Given the description of an element on the screen output the (x, y) to click on. 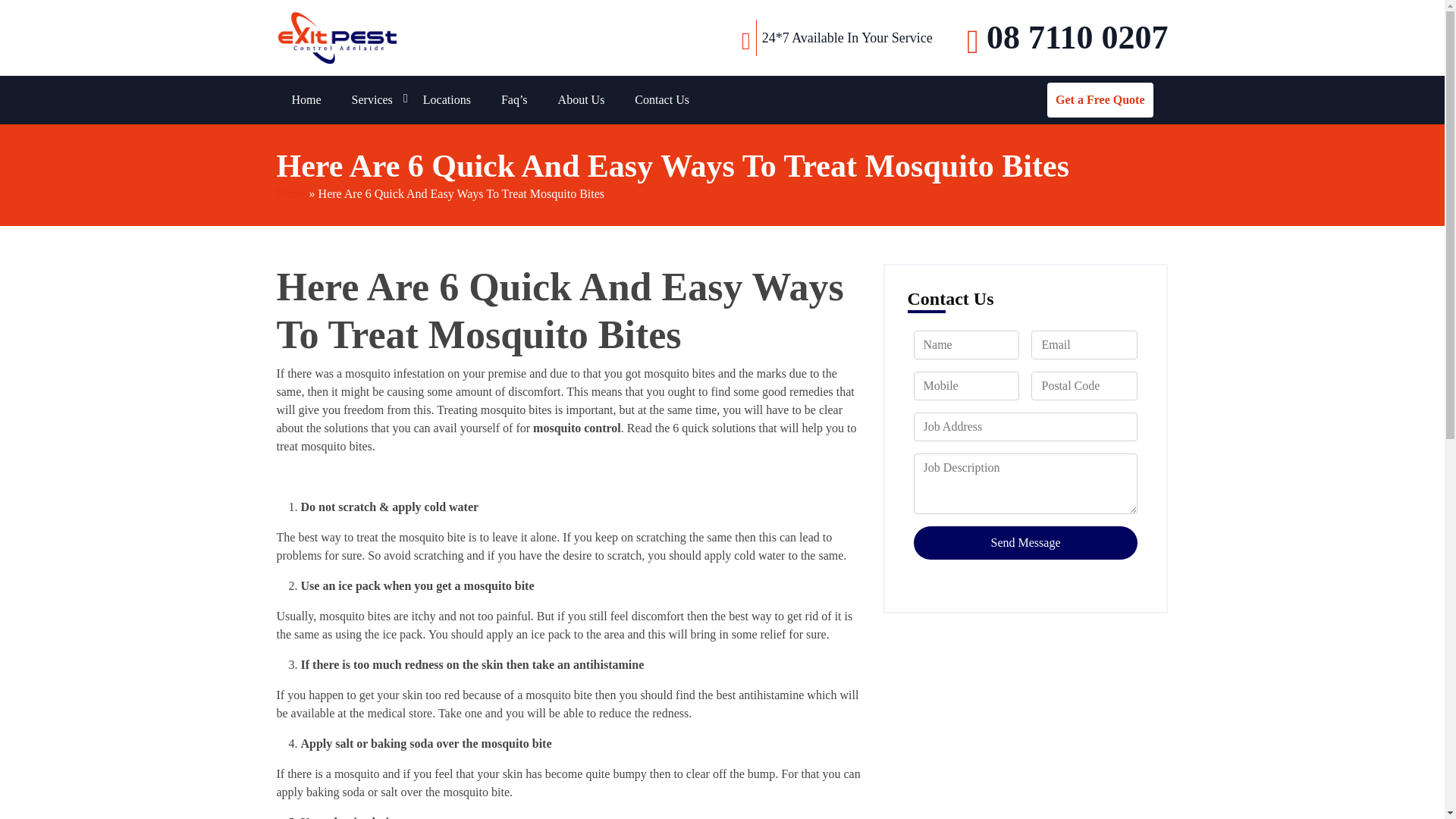
Locations (446, 100)
Services (371, 100)
Services (371, 100)
Home (290, 193)
Contact Us (662, 100)
Get a Free Quote (1099, 99)
Home (306, 100)
Locations (446, 100)
Send Message (1024, 542)
Contact Us (662, 100)
08 7110 0207 (1067, 38)
08 7110 0207 (1067, 38)
Home (306, 100)
About Us (581, 100)
About Us (581, 100)
